Given the description of an element on the screen output the (x, y) to click on. 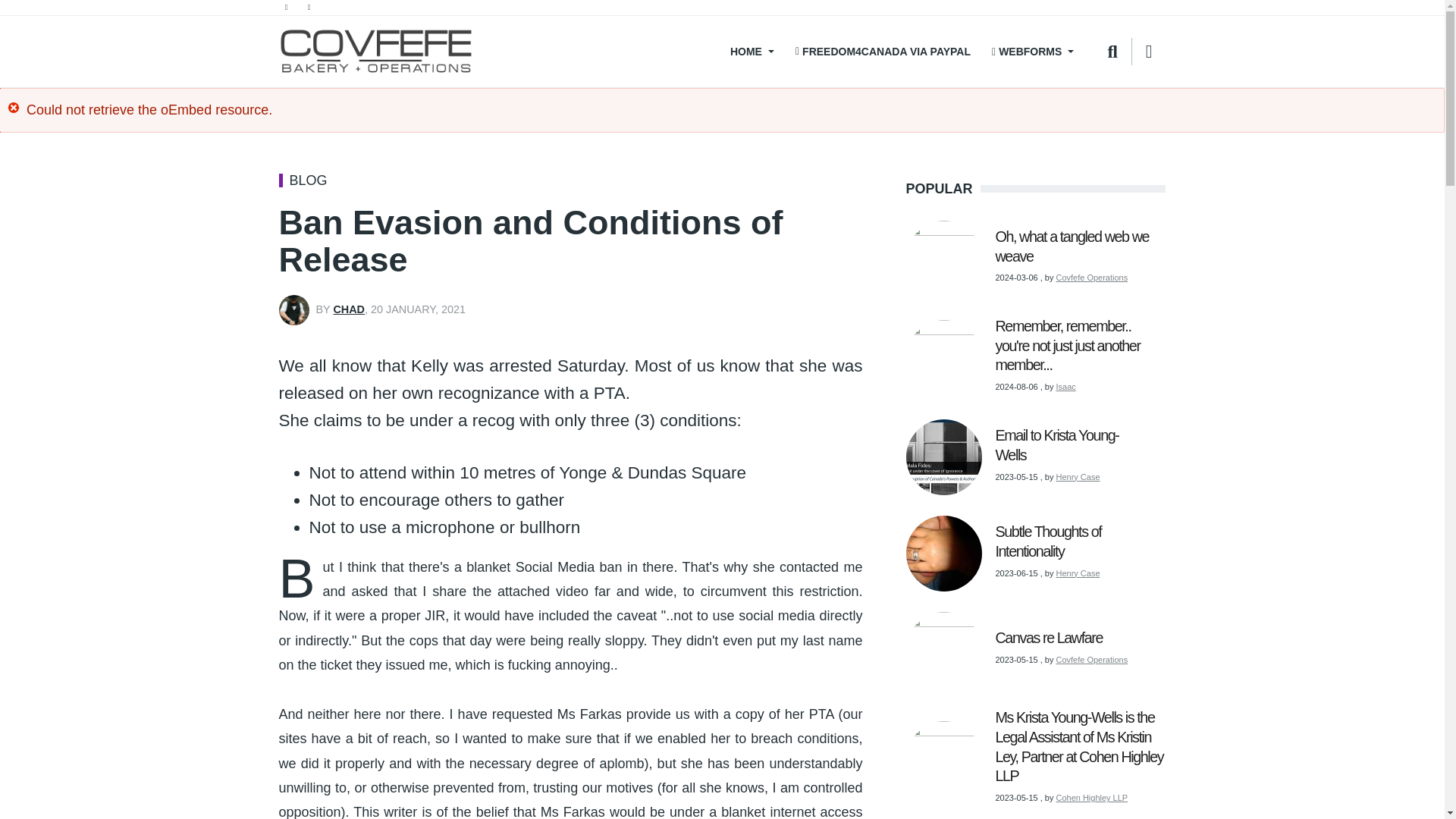
View user profile. (349, 309)
FREEDOM4CANADA VIA PAYPAL (882, 51)
Home (376, 51)
WEBFORMS (1032, 51)
Donate to the Independent Ontario Advocacy Group via PayPal (882, 51)
View user profile. (1066, 386)
View user profile. (1092, 276)
HOME (750, 51)
